Given the description of an element on the screen output the (x, y) to click on. 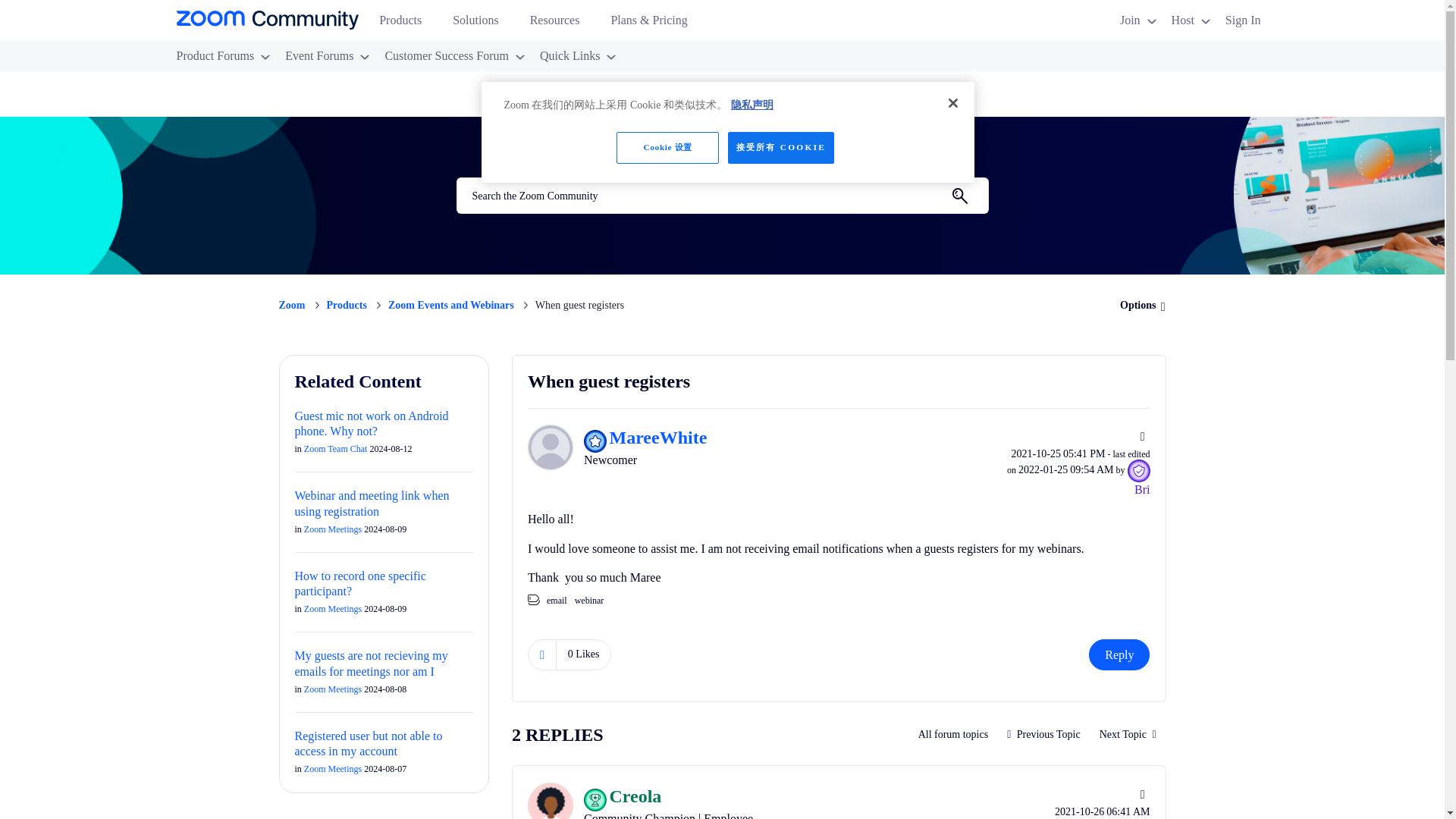
Search (959, 195)
Click here to give likes to this post. (542, 654)
Search (959, 195)
Solutions (481, 23)
Webinar Transcripts not available (1043, 734)
The total number of likes this post has received. (583, 654)
Products (406, 23)
Search (722, 195)
Zoom Events and Webinars (953, 734)
